Given the description of an element on the screen output the (x, y) to click on. 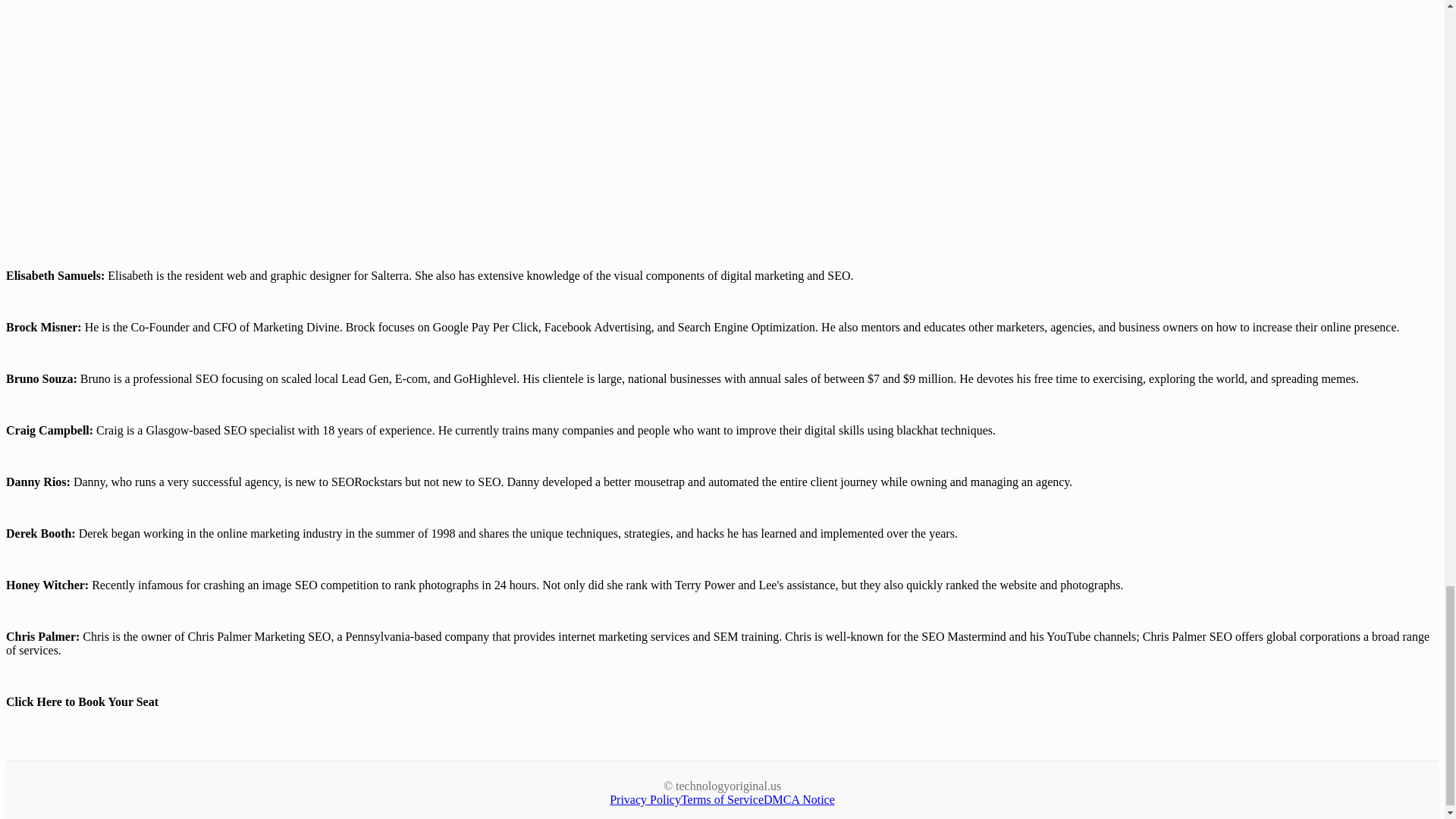
Privacy Policy (645, 799)
YouTube video player (217, 114)
Terms of Service (721, 799)
DMCA Notice (798, 799)
